Given the description of an element on the screen output the (x, y) to click on. 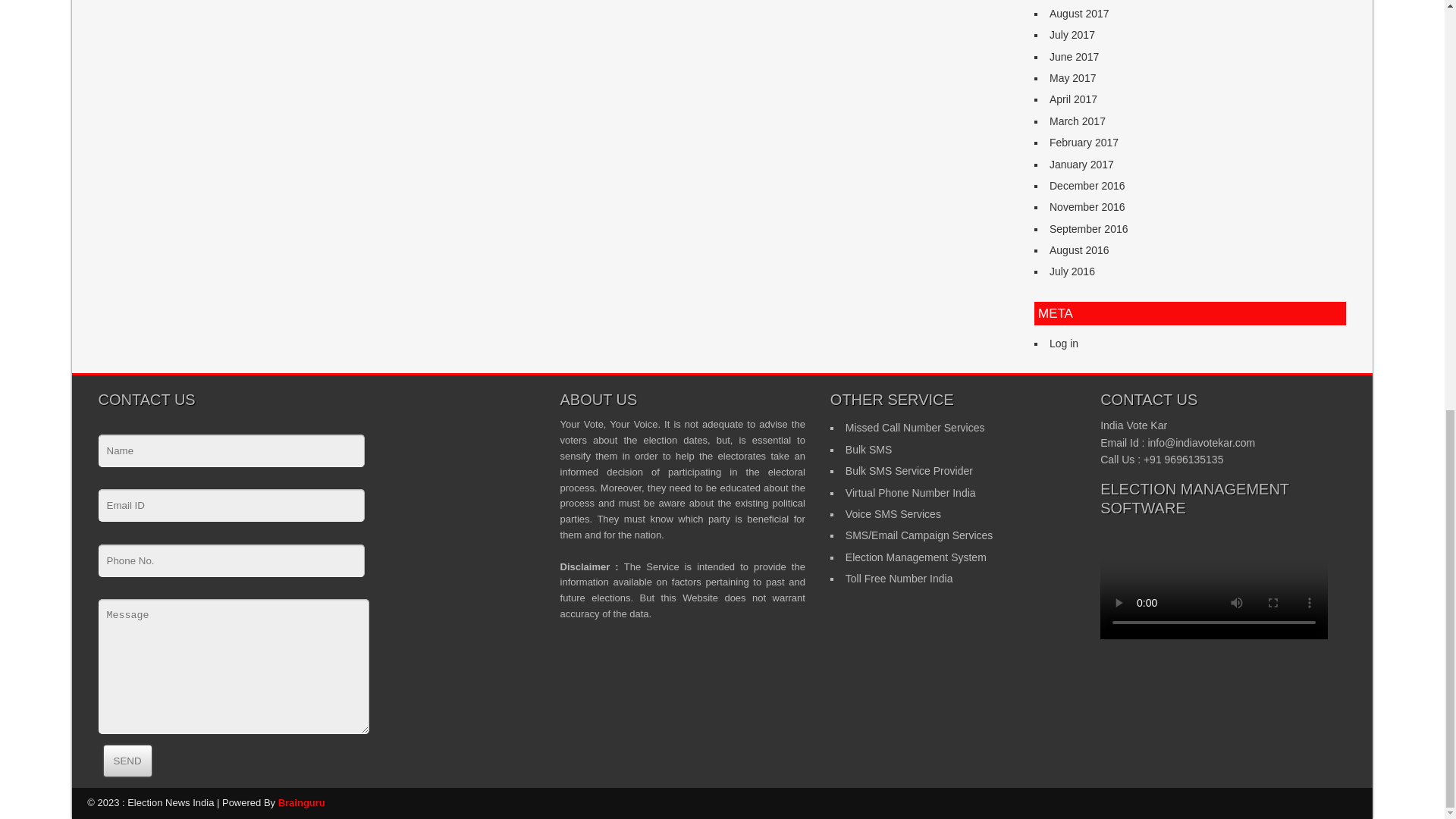
Send (127, 760)
